Given the description of an element on the screen output the (x, y) to click on. 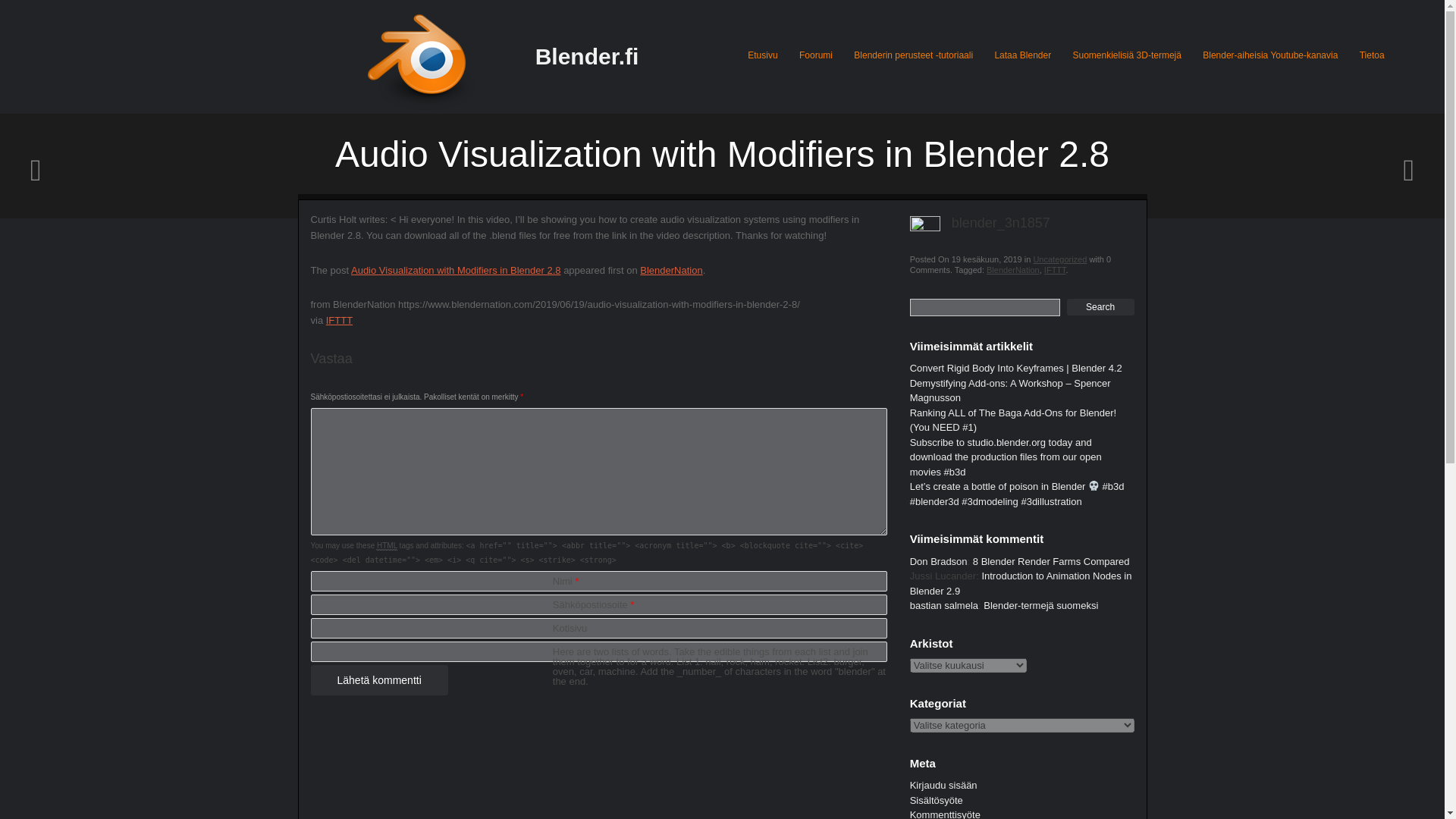
Skip to content (780, 43)
Don Bradson (939, 561)
Blenderin perusteet -tutoriaali (912, 54)
Lataa Blender (1022, 54)
IFTTT (1054, 269)
Blender.fi (587, 56)
BlenderNation (1013, 269)
Blender-aiheisia Youtube-kanavia (1270, 54)
Search (1100, 306)
8 Blender Render Farms Compared (1050, 561)
